Given the description of an element on the screen output the (x, y) to click on. 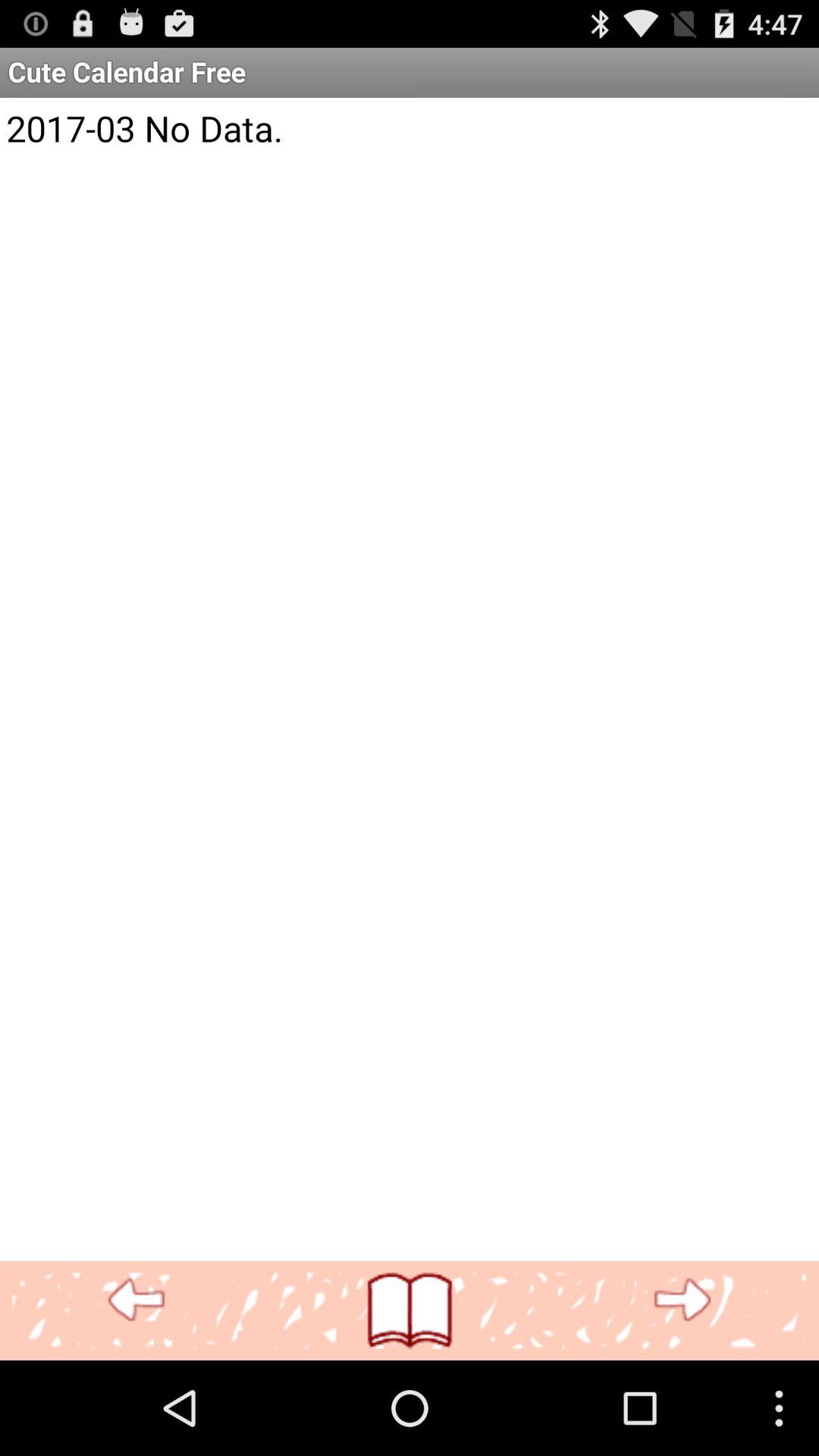
calendar home (409, 1310)
